Given the description of an element on the screen output the (x, y) to click on. 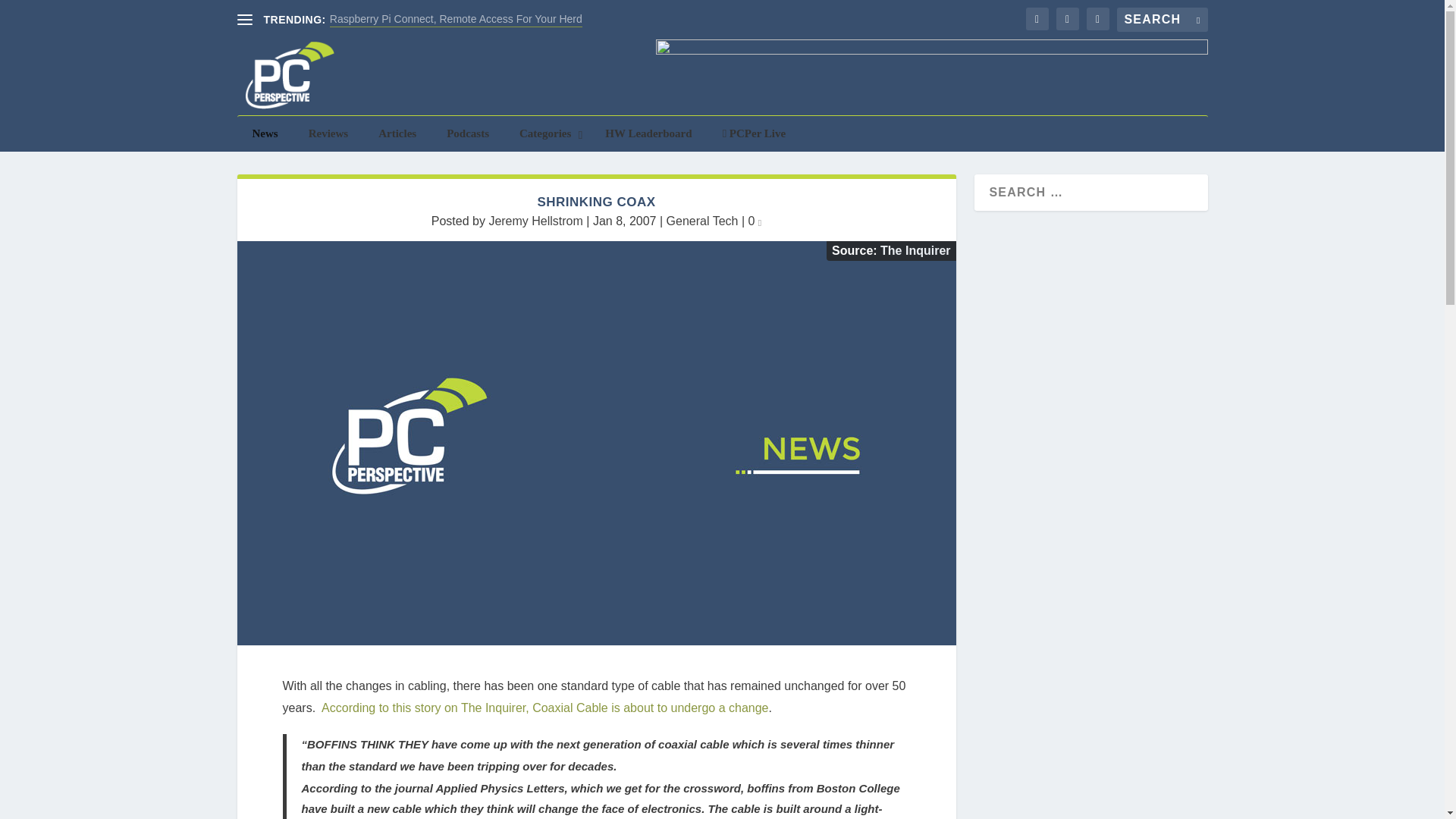
Raspberry Pi Connect, Remote Access For Your Herd (456, 19)
Categories (546, 133)
Search for: (1161, 19)
HW Leaderboard (647, 133)
Articles (396, 133)
Podcasts (466, 133)
Posts by Jeremy Hellstrom (534, 220)
News (263, 133)
Reviews (329, 133)
